Given the description of an element on the screen output the (x, y) to click on. 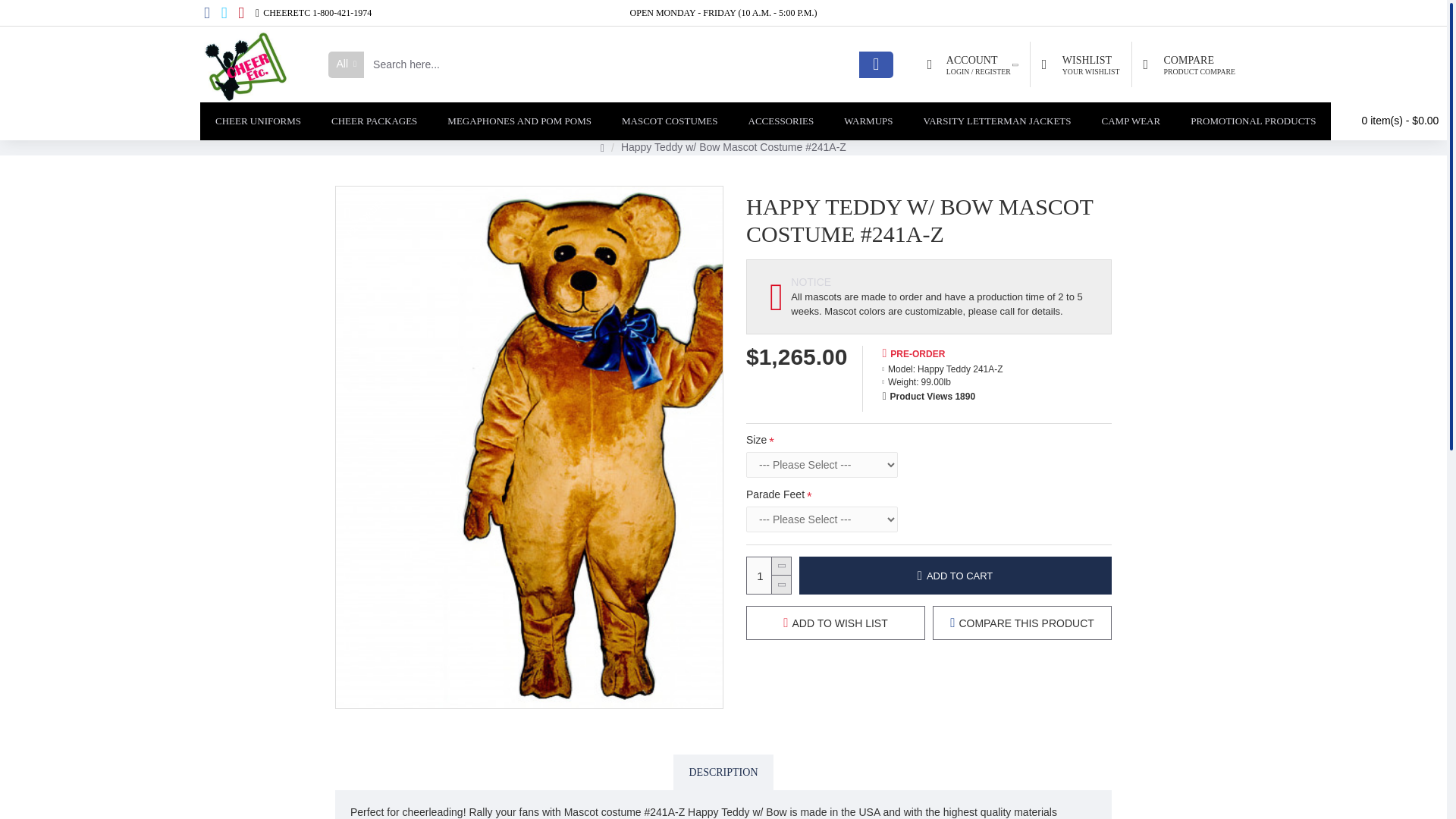
CHEER UNIFORMS (1188, 63)
CHEER PACKAGES (257, 121)
Cheer Etc.- Your Cheerleading Store (1080, 63)
CHEERETC 1-800-421-1974 (373, 121)
1 (244, 64)
